Given the description of an element on the screen output the (x, y) to click on. 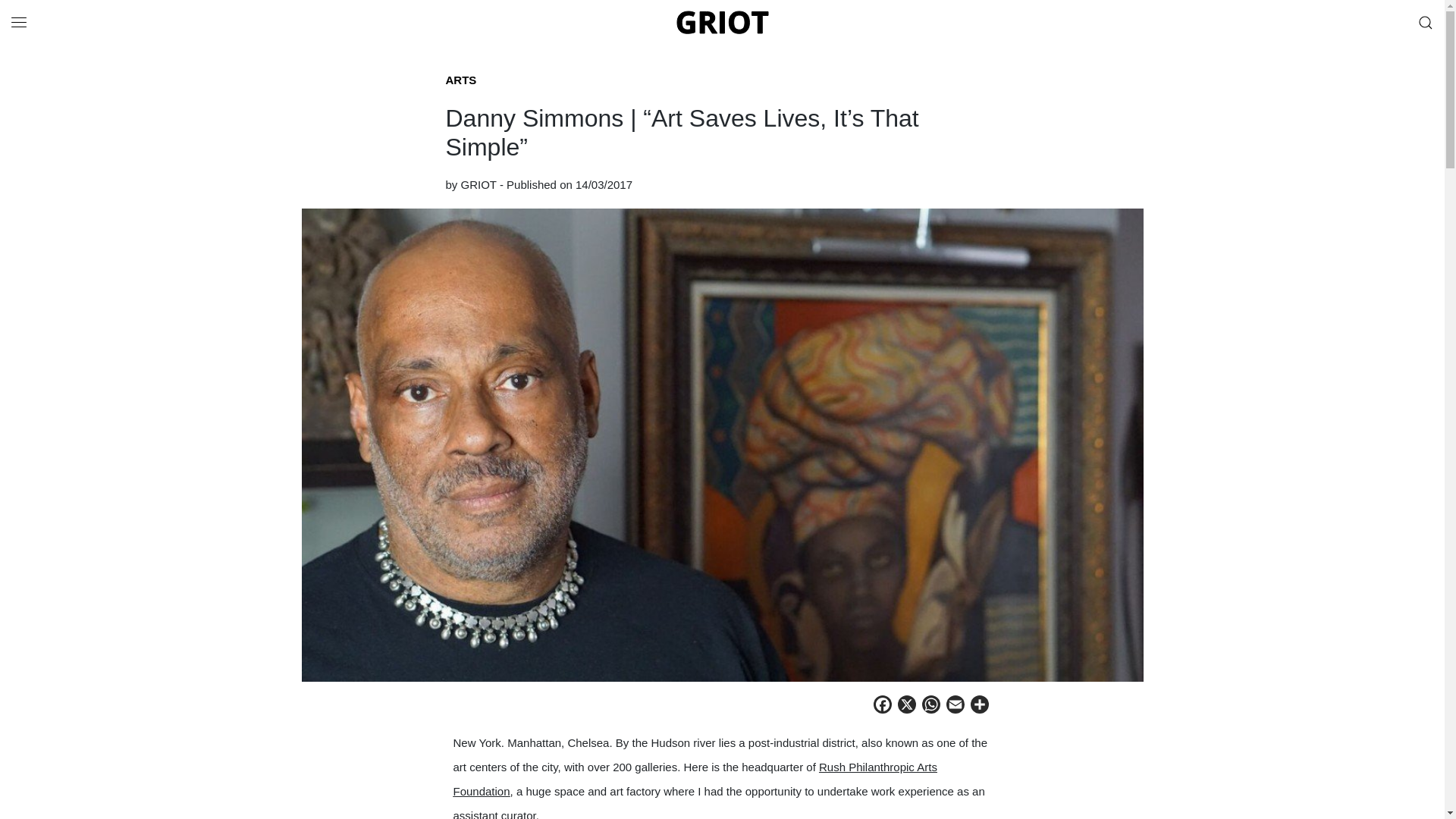
X (906, 707)
WhatsApp (930, 707)
X (906, 707)
ARTS (461, 79)
GRIOT (478, 184)
GRIOT (721, 22)
Rush Philanthropic Arts Foundation (694, 778)
Email (955, 707)
GRIOT (721, 21)
Facebook (882, 707)
Facebook (882, 707)
